Given the description of an element on the screen output the (x, y) to click on. 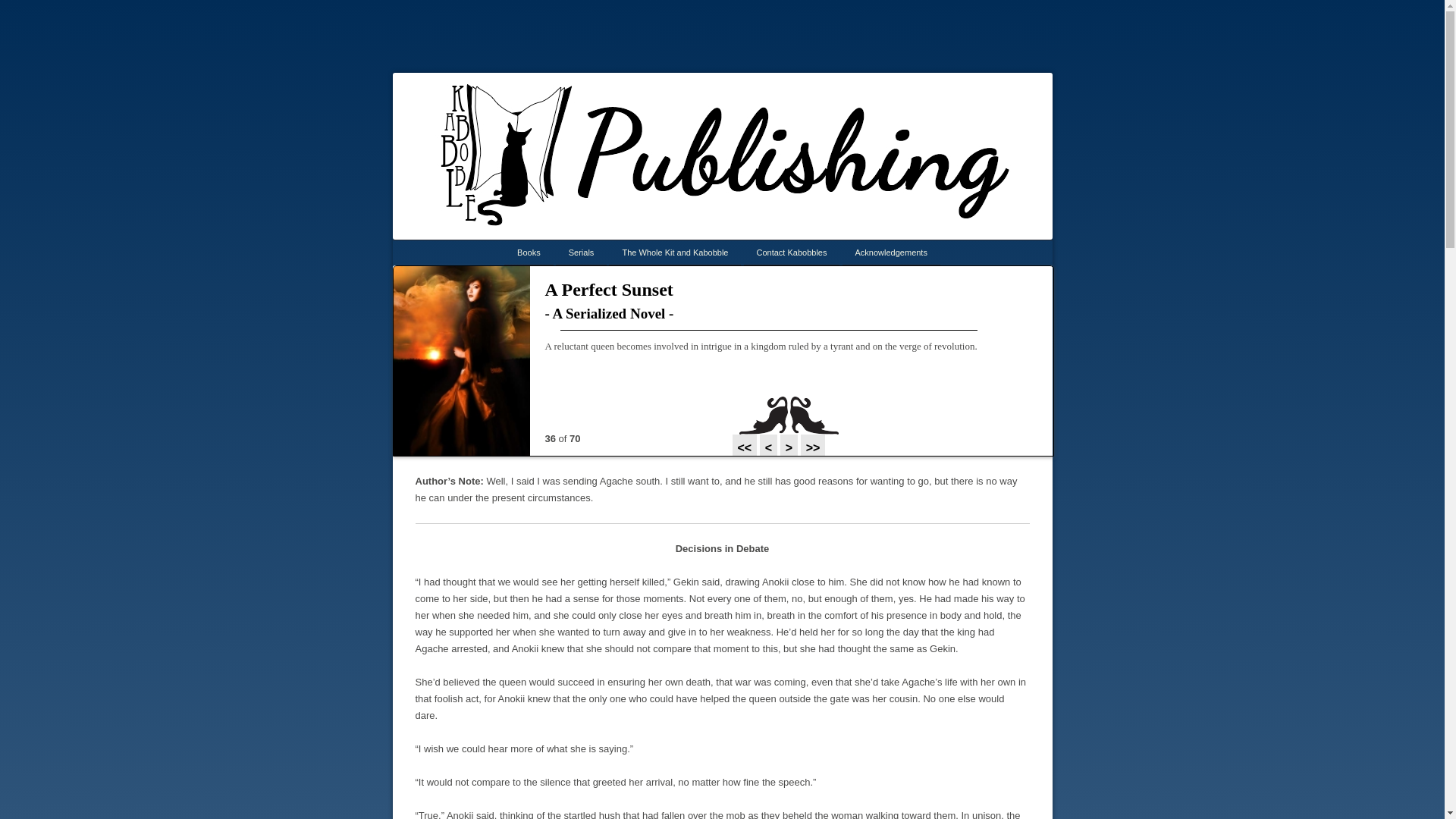
Previous Entry (762, 430)
Next Entry (790, 448)
Books (528, 252)
Previous Entry (770, 448)
Kabobbles Publishing (769, 92)
A Perfect Sunset (608, 289)
First Entry (746, 448)
Latest Entry (812, 448)
- A Serialized Novel - (790, 313)
Acknowledgements (891, 252)
